Given the description of an element on the screen output the (x, y) to click on. 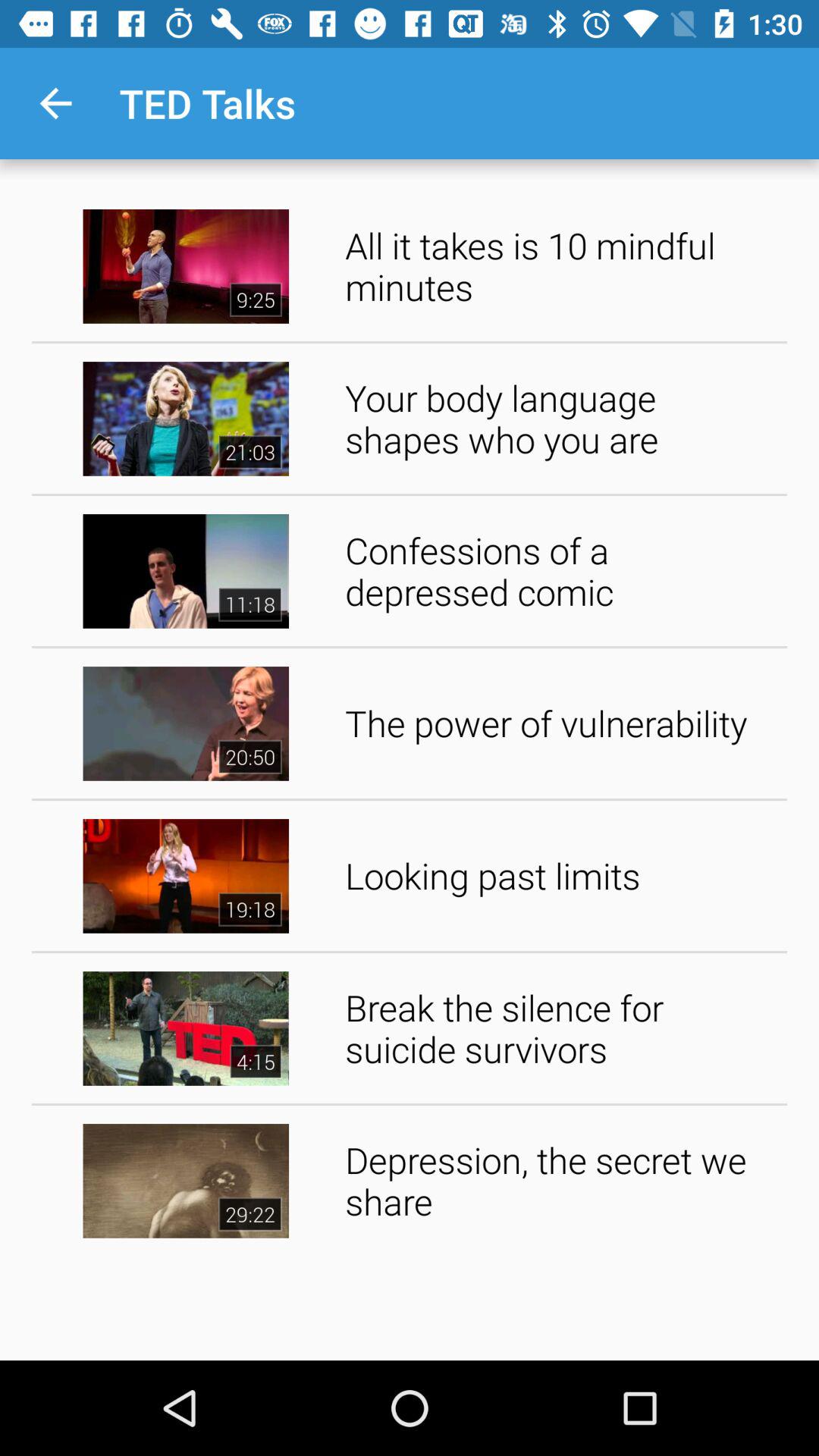
press the app above the confessions of a app (560, 418)
